Given the description of an element on the screen output the (x, y) to click on. 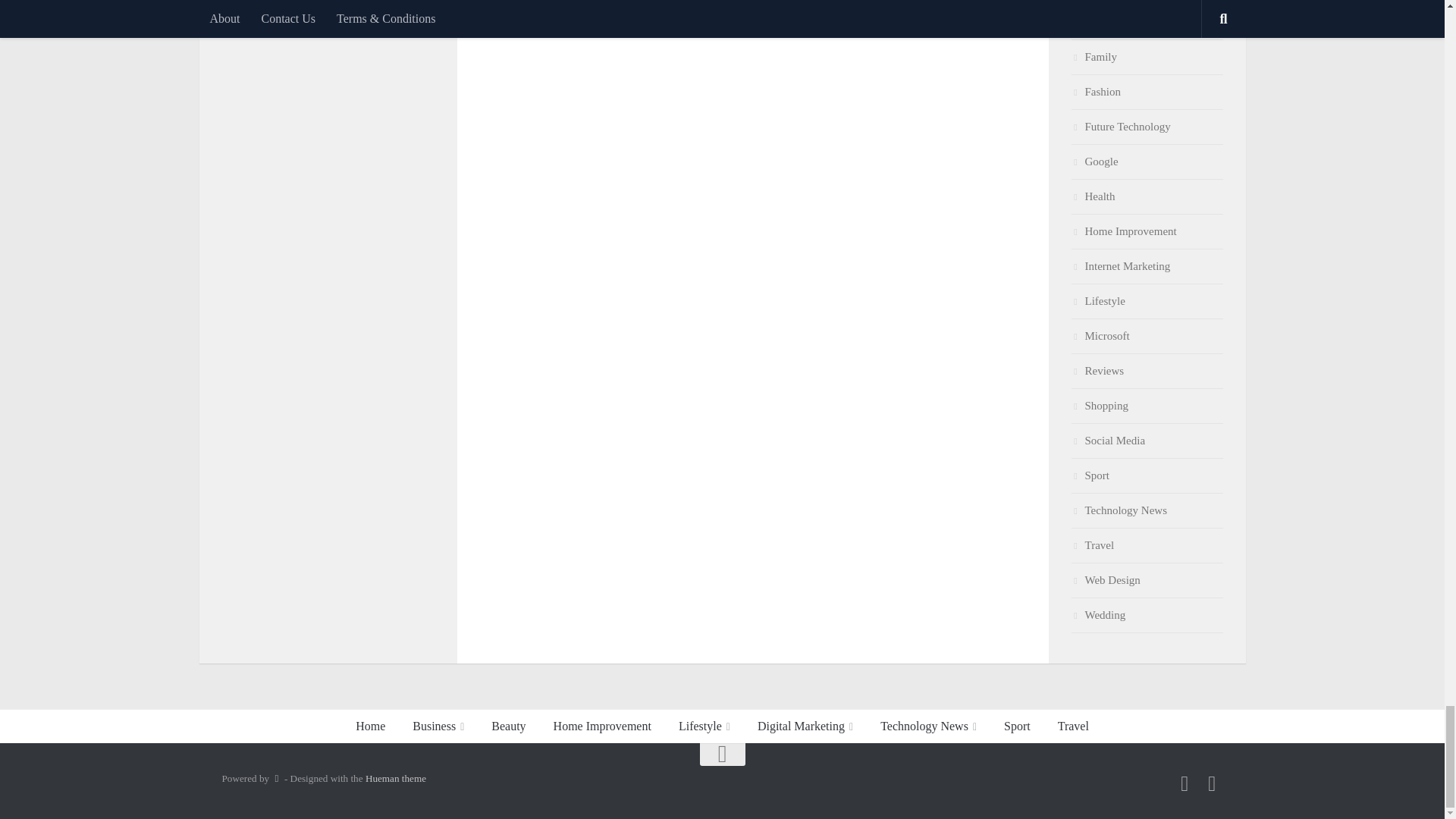
Hueman theme (395, 778)
Powered by WordPress (275, 777)
